Given the description of an element on the screen output the (x, y) to click on. 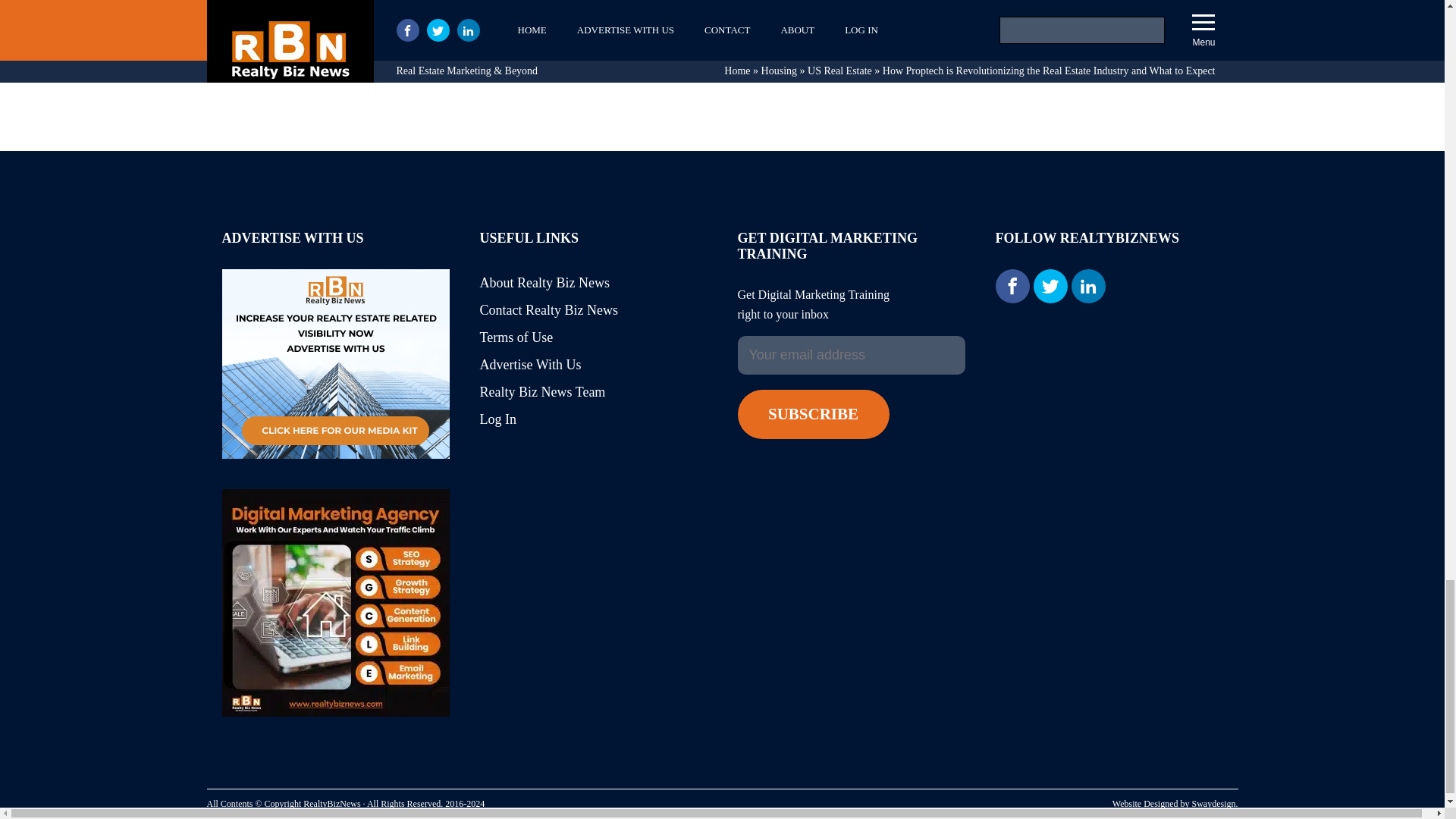
Subscribe (812, 413)
